Given the description of an element on the screen output the (x, y) to click on. 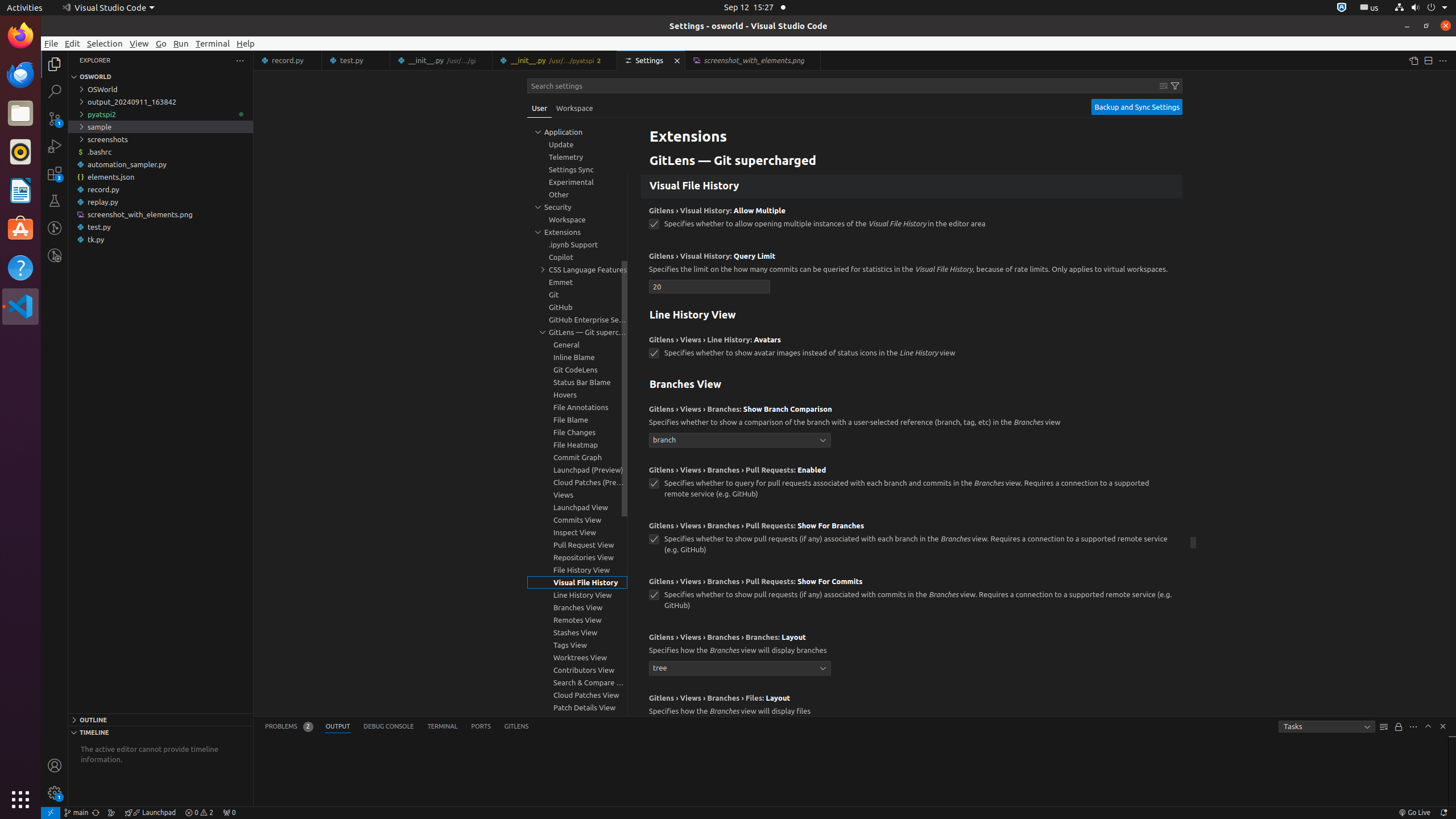
Settings Element type: page-tab (651, 60)
Workspace, group Element type: tree-item (577, 219)
Source Control (Ctrl+Shift+G G) - 1 pending changes Source Control (Ctrl+Shift+G G) - 1 pending changes Element type: page-tab (54, 118)
Other, group Element type: tree-item (577, 194)
Experimental, group Element type: tree-item (577, 181)
